Given the description of an element on the screen output the (x, y) to click on. 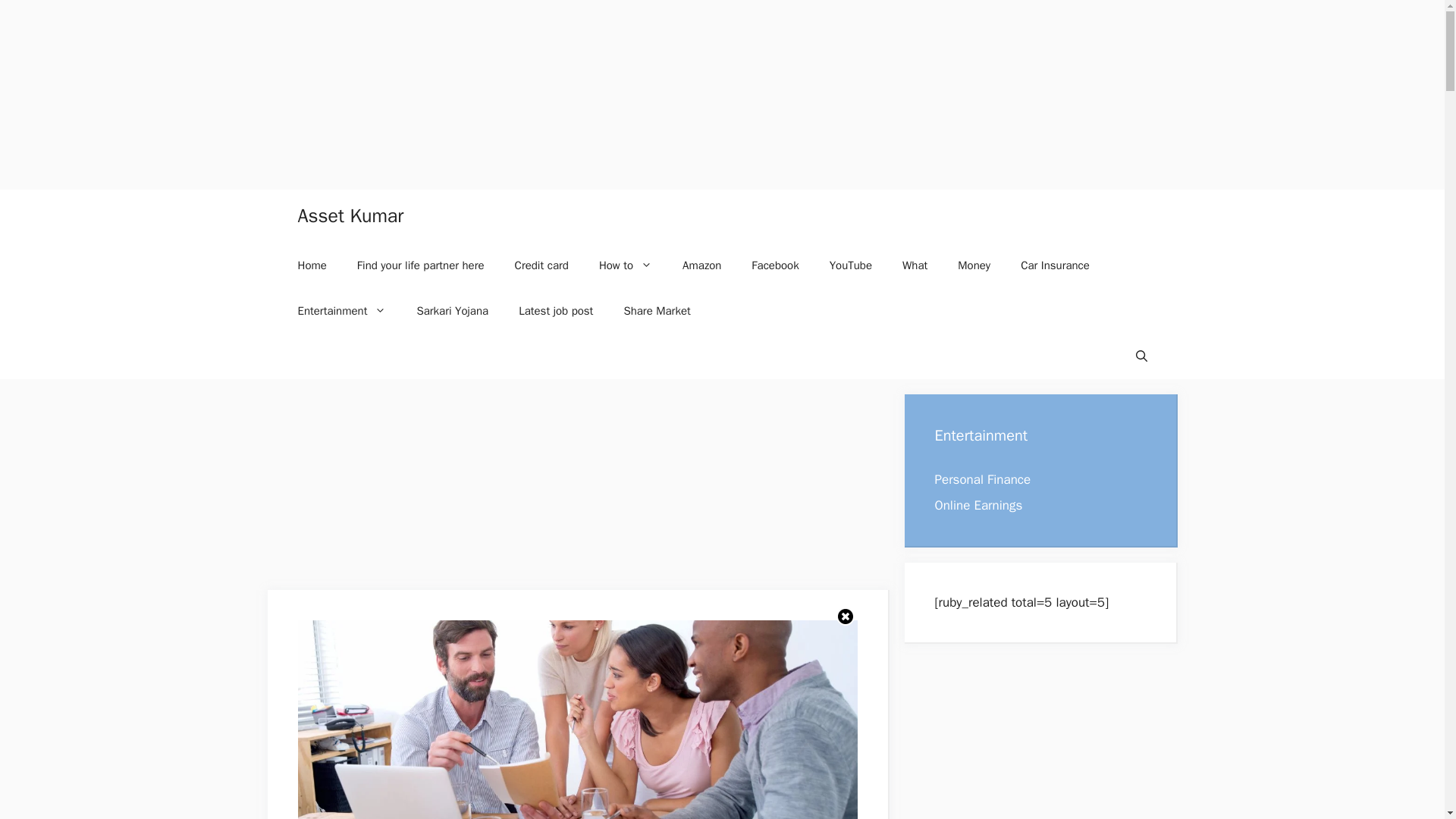
Personal Finance (982, 479)
Amazon (701, 265)
How to (624, 265)
Sarkari Yojana (452, 310)
Car Insurance (1055, 265)
Online Earnings (978, 505)
What (914, 265)
Find your life partner here (420, 265)
Entertainment (341, 310)
Home (311, 265)
Credit card (541, 265)
YouTube (849, 265)
Latest job post (555, 310)
Money (974, 265)
Facebook (774, 265)
